Given the description of an element on the screen output the (x, y) to click on. 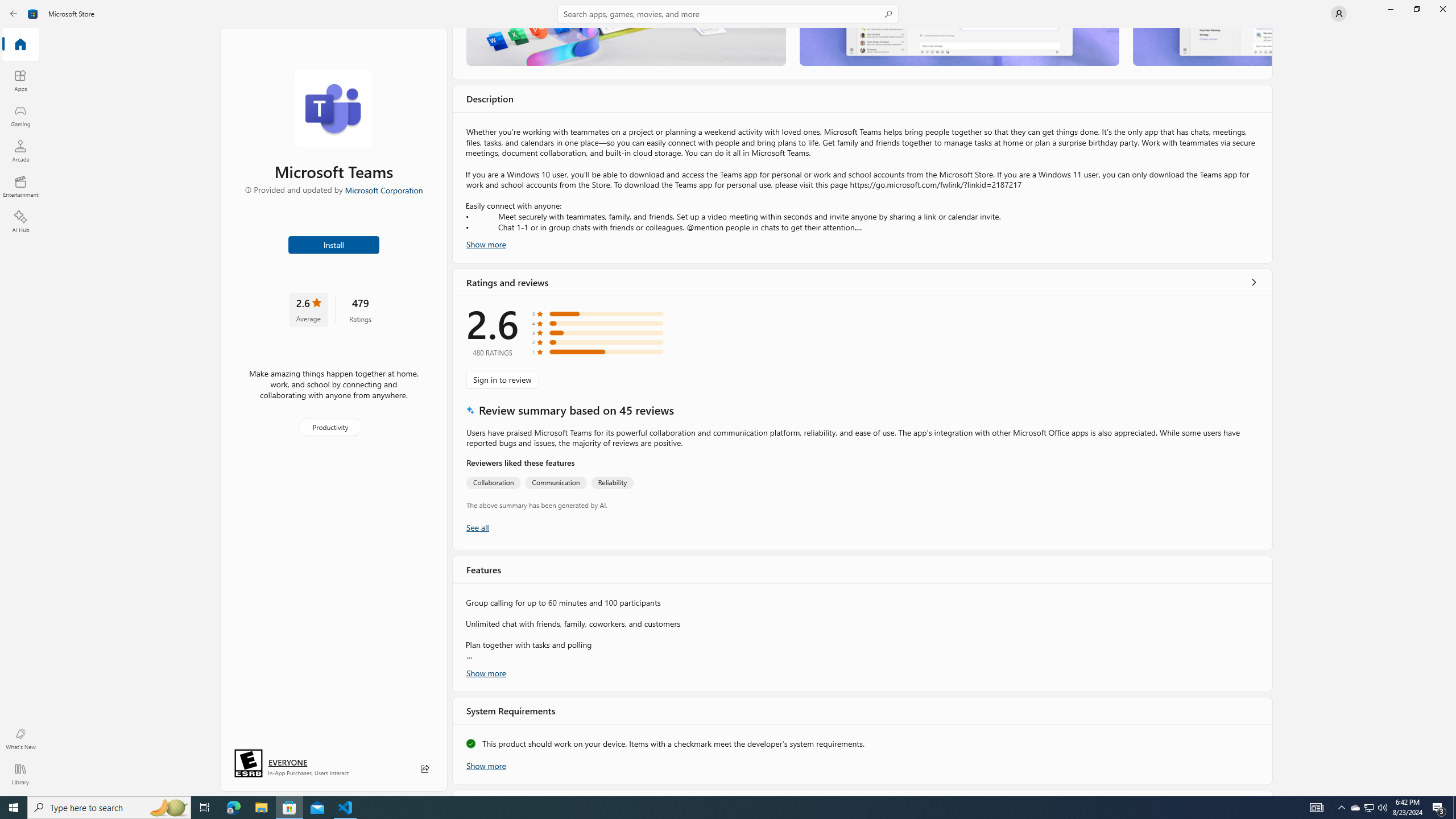
Age rating: EVERYONE. Click for more information. (287, 762)
Sign in to review (501, 379)
Screenshot 2 (959, 46)
Install (334, 244)
Search (727, 13)
Show all ratings and reviews (477, 527)
Show more (485, 764)
